Given the description of an element on the screen output the (x, y) to click on. 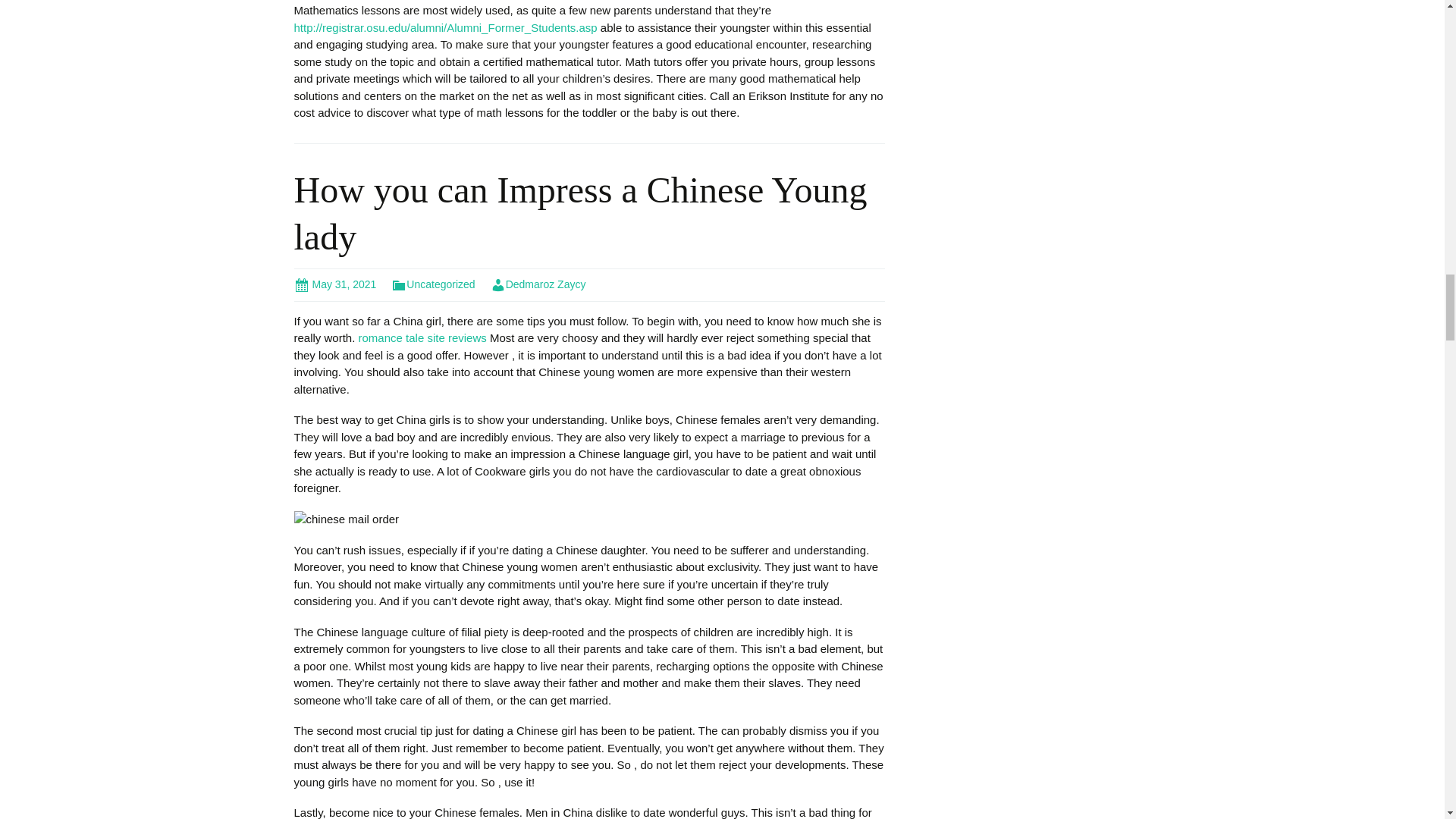
romance tale site reviews (422, 337)
View all posts by Dedmaroz Zaycy (538, 284)
Uncategorized (432, 284)
How you can Impress a Chinese Young lady (580, 213)
Dedmaroz Zaycy (538, 284)
May 31, 2021 (335, 284)
Permalink to How you can Impress a Chinese Young lady (335, 284)
